Given the description of an element on the screen output the (x, y) to click on. 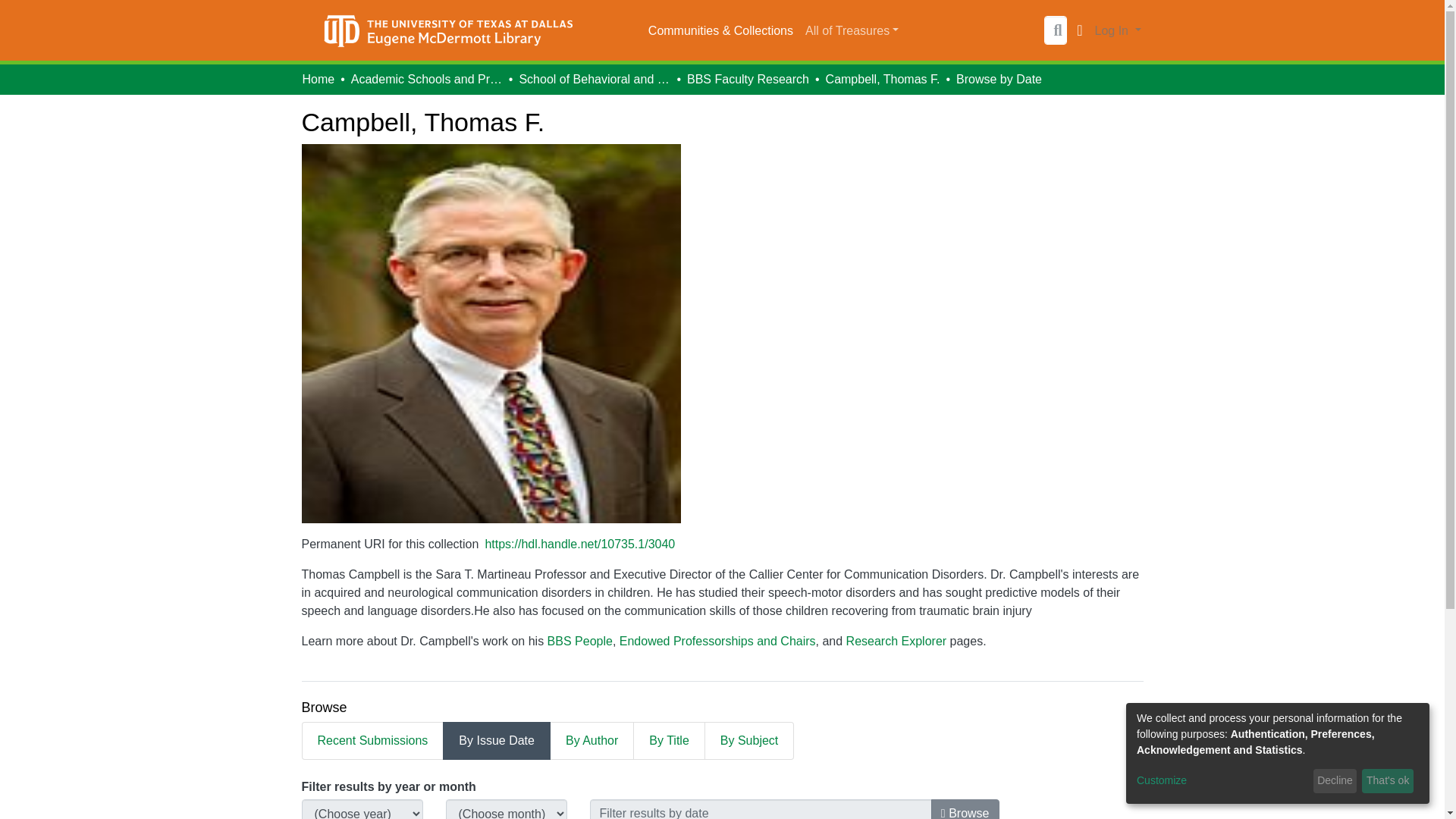
Decline (1334, 781)
Recent Submissions (372, 740)
By Subject (748, 740)
Search (1057, 30)
Endowed Professorships and Chairs (717, 640)
That's ok (1387, 781)
BBS People (579, 640)
By Issue Date (496, 740)
By Author (591, 740)
By Title (668, 740)
